Given the description of an element on the screen output the (x, y) to click on. 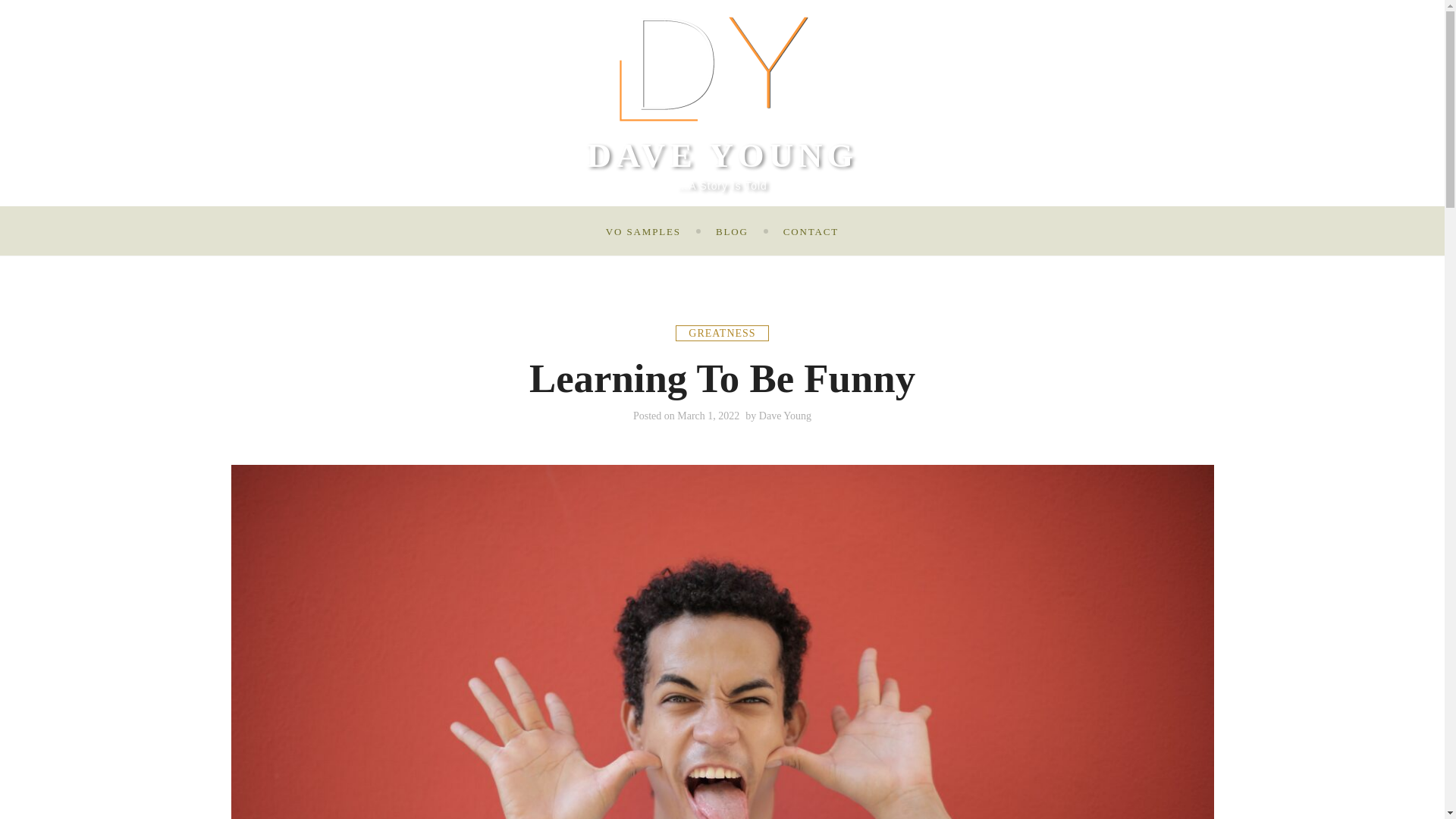
Dave Young (784, 415)
BLOG (732, 231)
VO SAMPLES (643, 231)
CONTACT (810, 231)
DAVE YOUNG (721, 155)
March 1, 2022 (708, 415)
GREATNESS (721, 333)
